Given the description of an element on the screen output the (x, y) to click on. 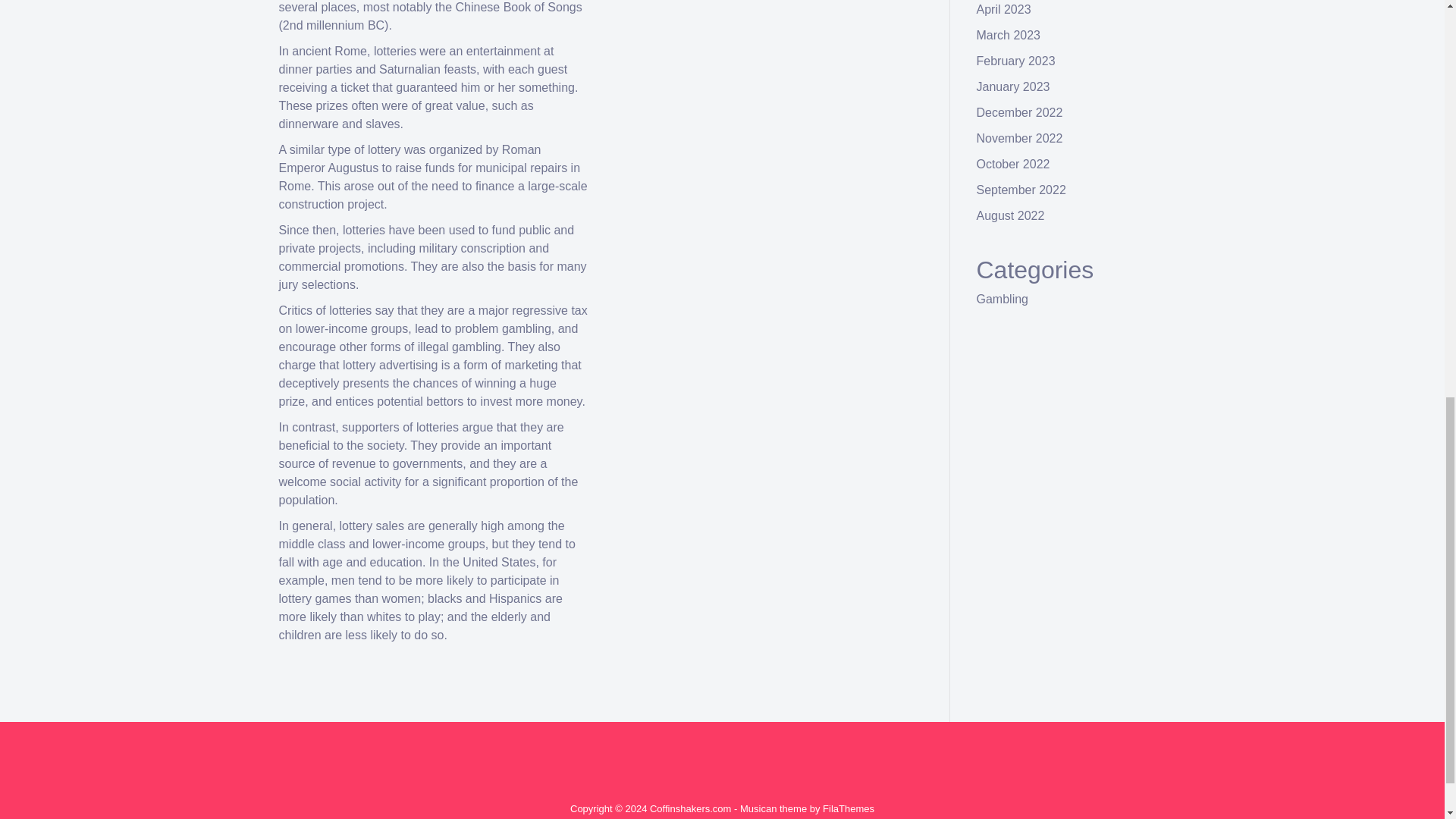
August 2022 (1010, 215)
January 2023 (1012, 86)
Coffinshakers.com (689, 808)
Gambling (1001, 298)
September 2022 (1020, 189)
February 2023 (1015, 60)
October 2022 (1012, 164)
December 2022 (1019, 112)
November 2022 (1019, 137)
March 2023 (1008, 34)
April 2023 (1003, 9)
